Given the description of an element on the screen output the (x, y) to click on. 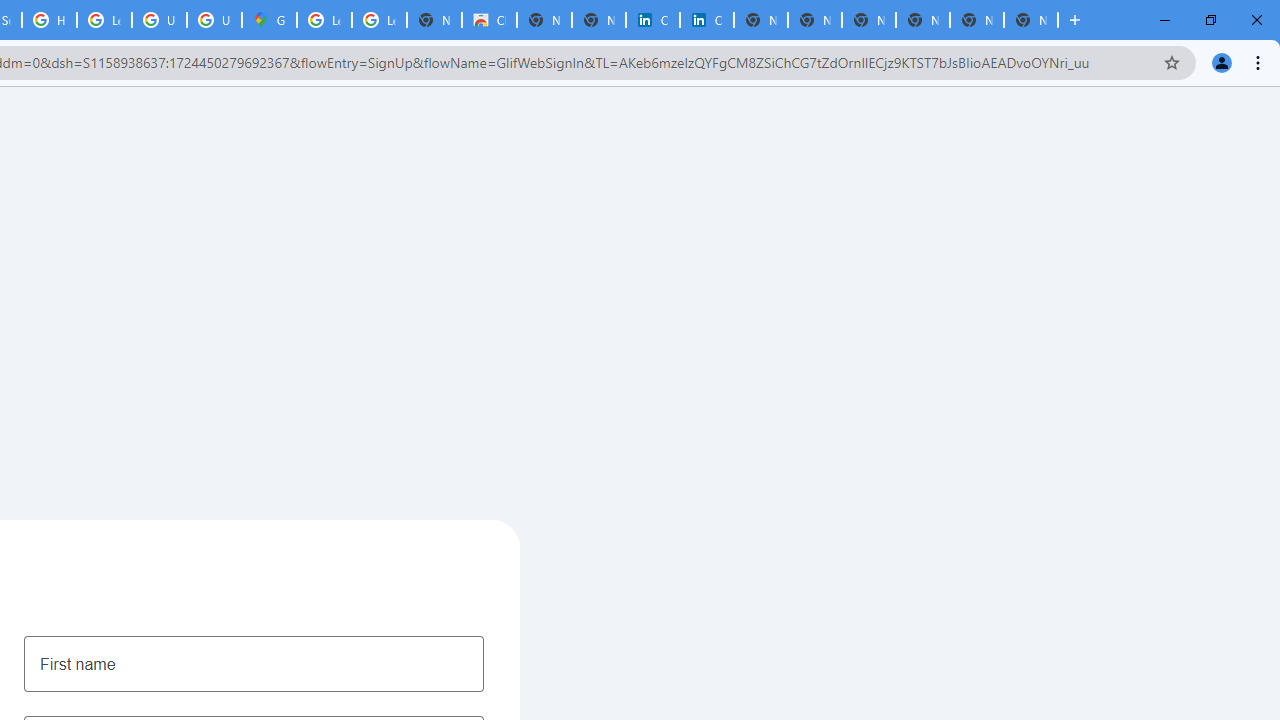
New Tab (1030, 20)
Cookie Policy | LinkedIn (652, 20)
